Given the description of an element on the screen output the (x, y) to click on. 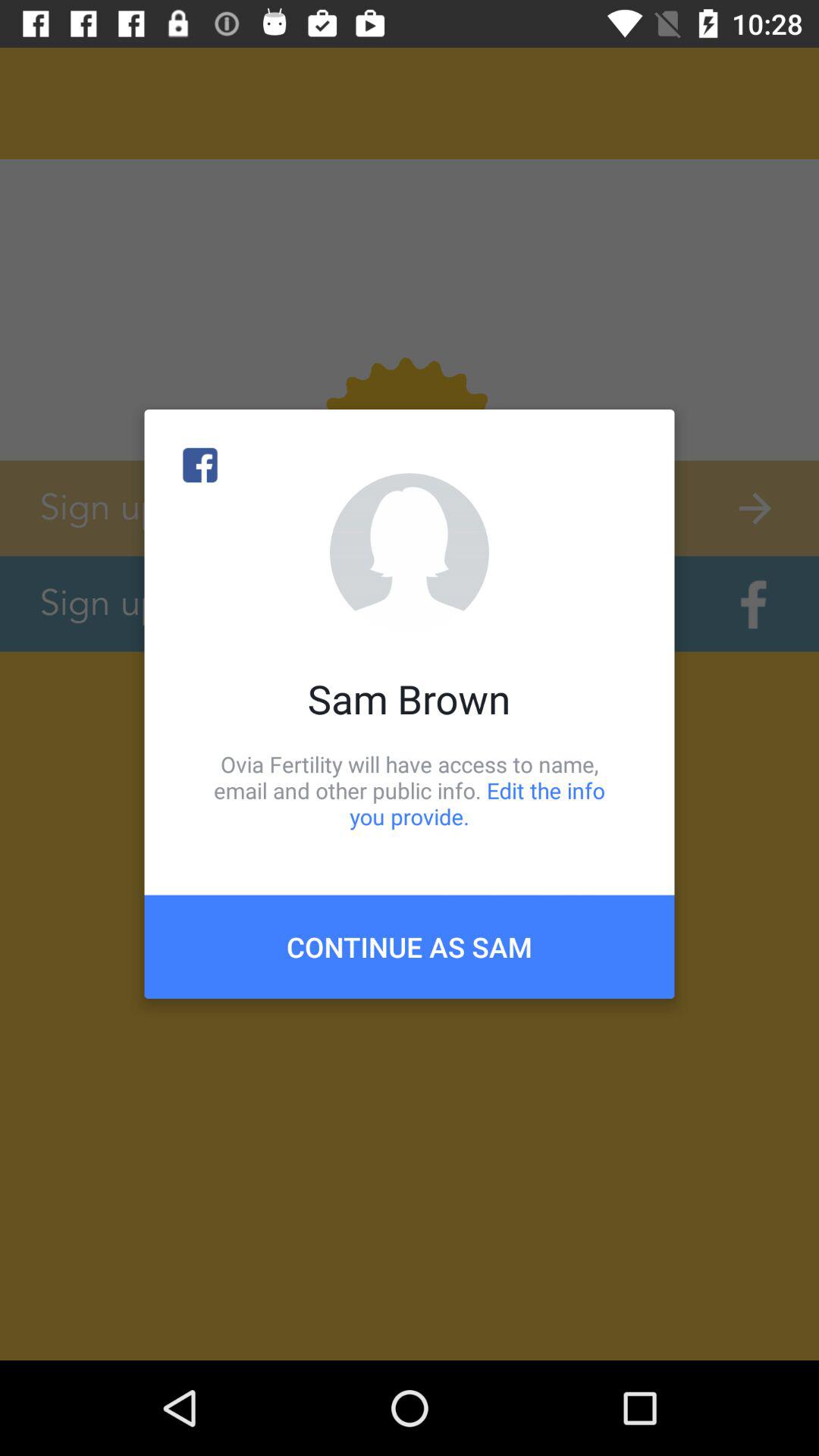
launch the item above continue as sam icon (409, 790)
